Given the description of an element on the screen output the (x, y) to click on. 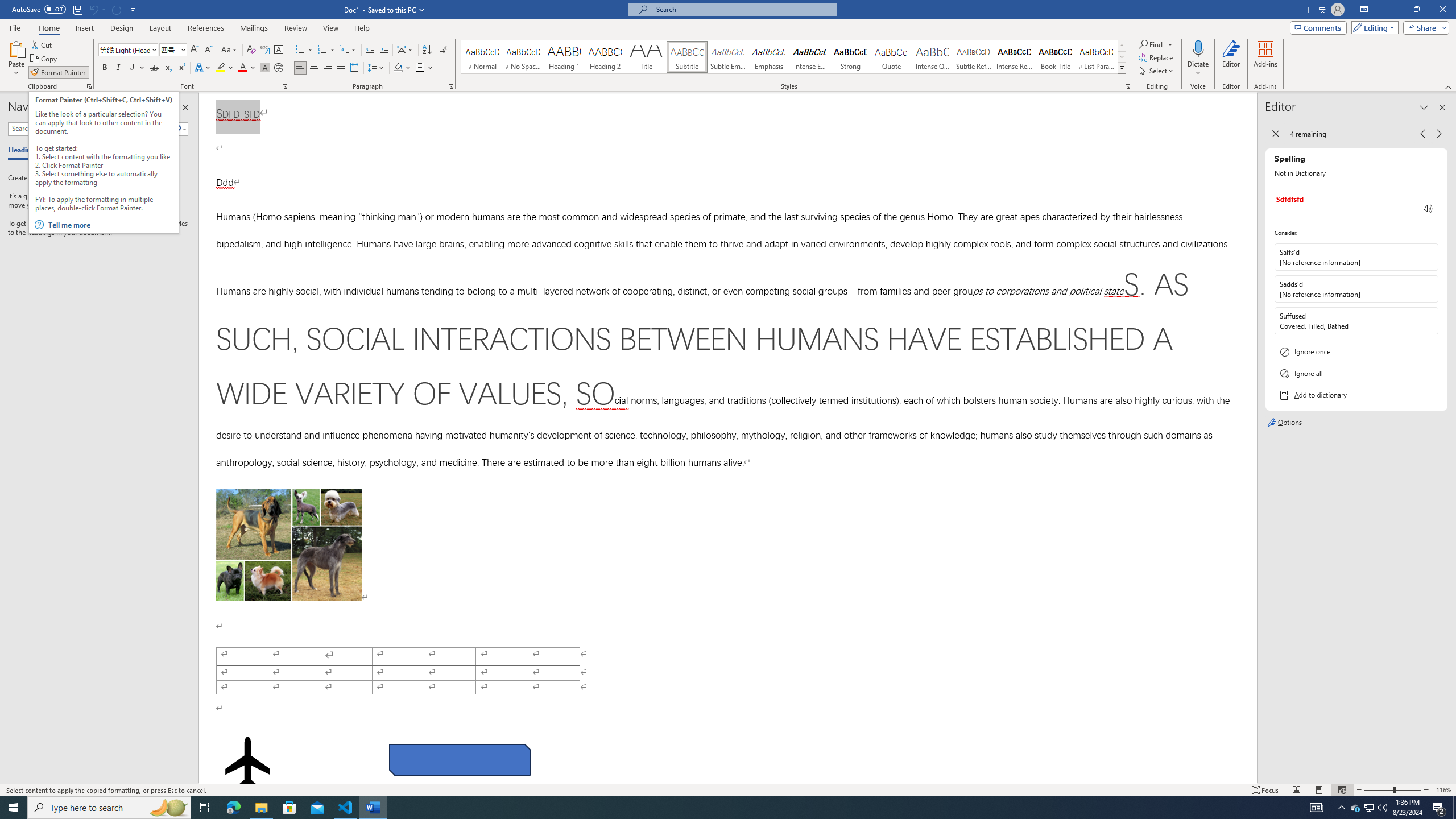
Web Layout (1342, 790)
References (205, 28)
Quick Access Toolbar (74, 9)
Select (1157, 69)
Zoom In (1426, 790)
Underline (136, 67)
Zoom (1392, 790)
Save (77, 9)
Airplane with solid fill (247, 762)
Review (295, 28)
Zoom 116% (1443, 790)
Bullets (300, 49)
Minimize (1390, 9)
Multilevel List (347, 49)
